Given the description of an element on the screen output the (x, y) to click on. 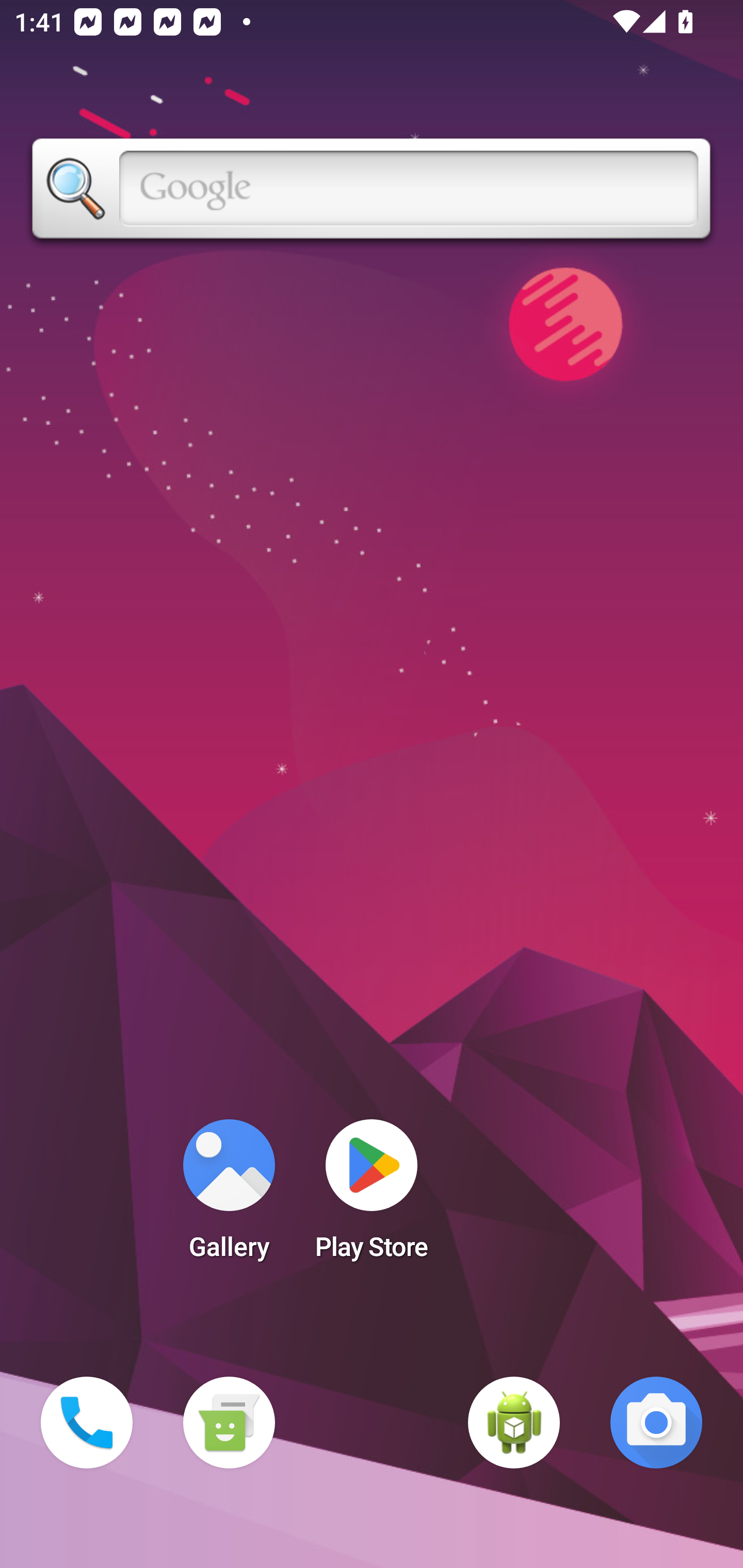
Gallery (228, 1195)
Play Store (371, 1195)
Phone (86, 1422)
Messaging (228, 1422)
WebView Browser Tester (513, 1422)
Camera (656, 1422)
